Given the description of an element on the screen output the (x, y) to click on. 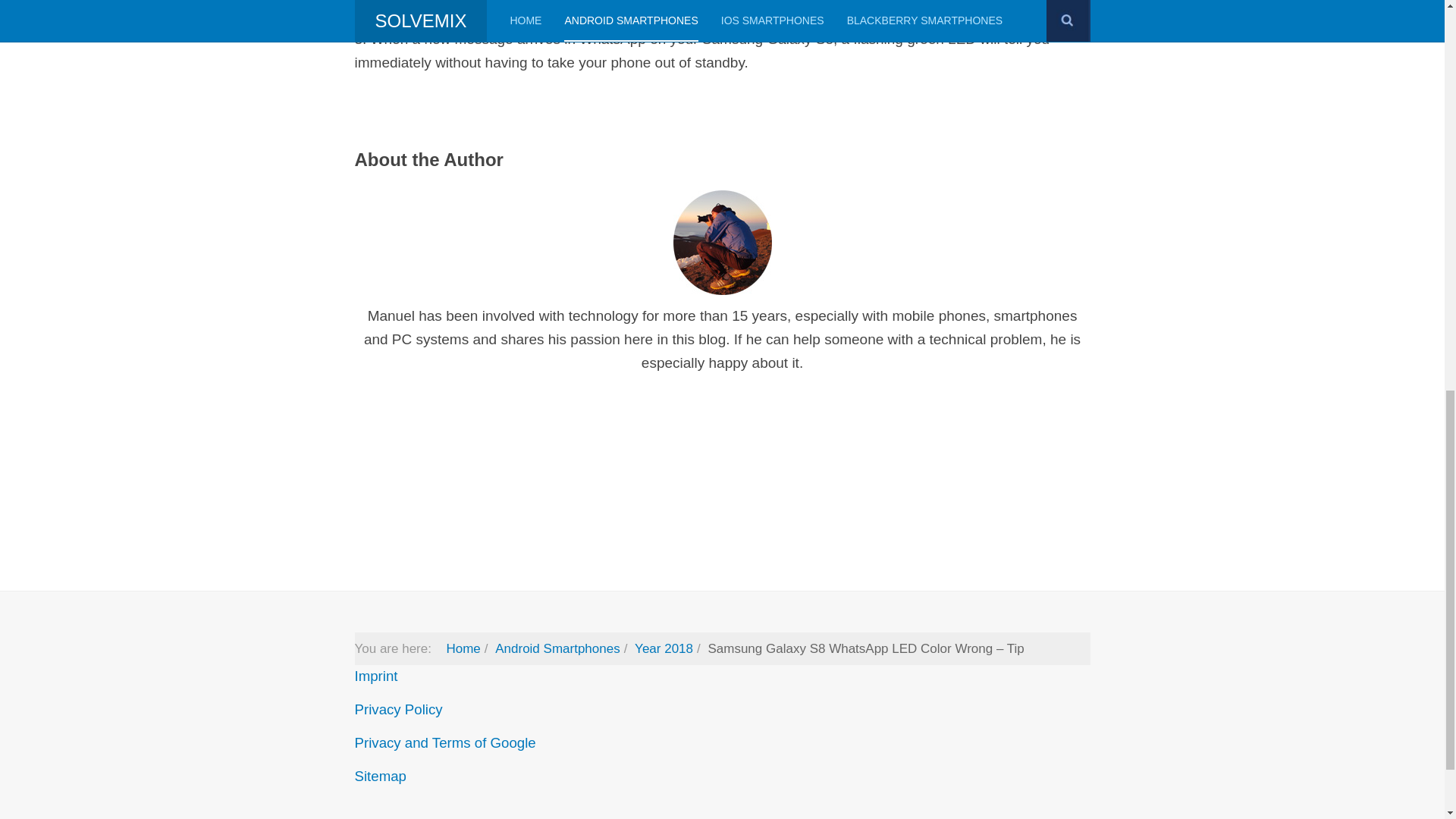
Sitemap (380, 775)
Year 2018 (663, 648)
Home (462, 648)
Privacy Policy (398, 709)
Imprint (376, 675)
Privacy and Terms of Google (445, 742)
Android Smartphones (557, 648)
